Given the description of an element on the screen output the (x, y) to click on. 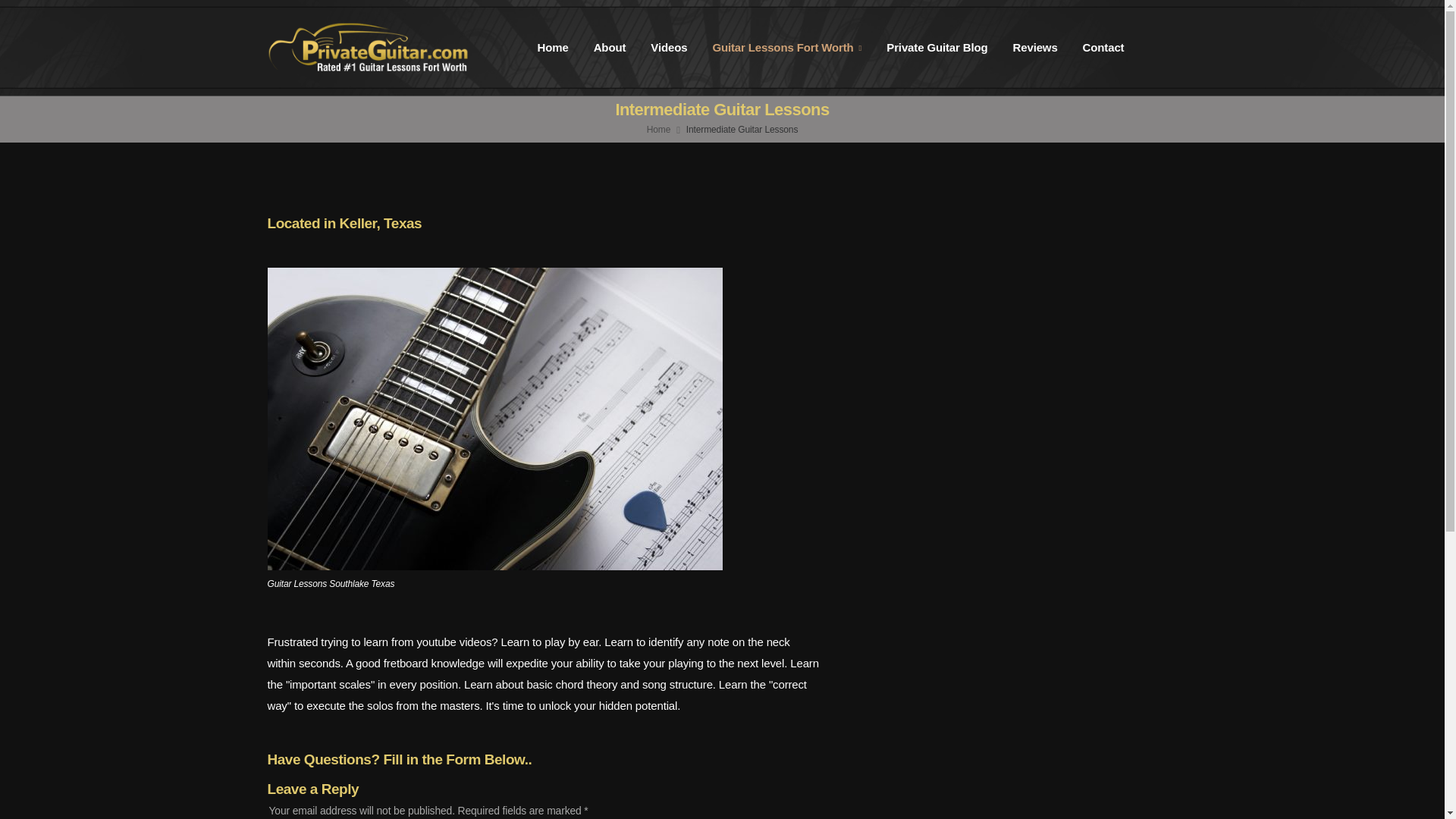
Home (552, 47)
Private Guitar Blog (936, 47)
Home (658, 129)
Contact (1103, 47)
Videos (668, 47)
Guitar Lessons Fort Worth (786, 47)
About (609, 47)
Reviews (1035, 47)
